Given the description of an element on the screen output the (x, y) to click on. 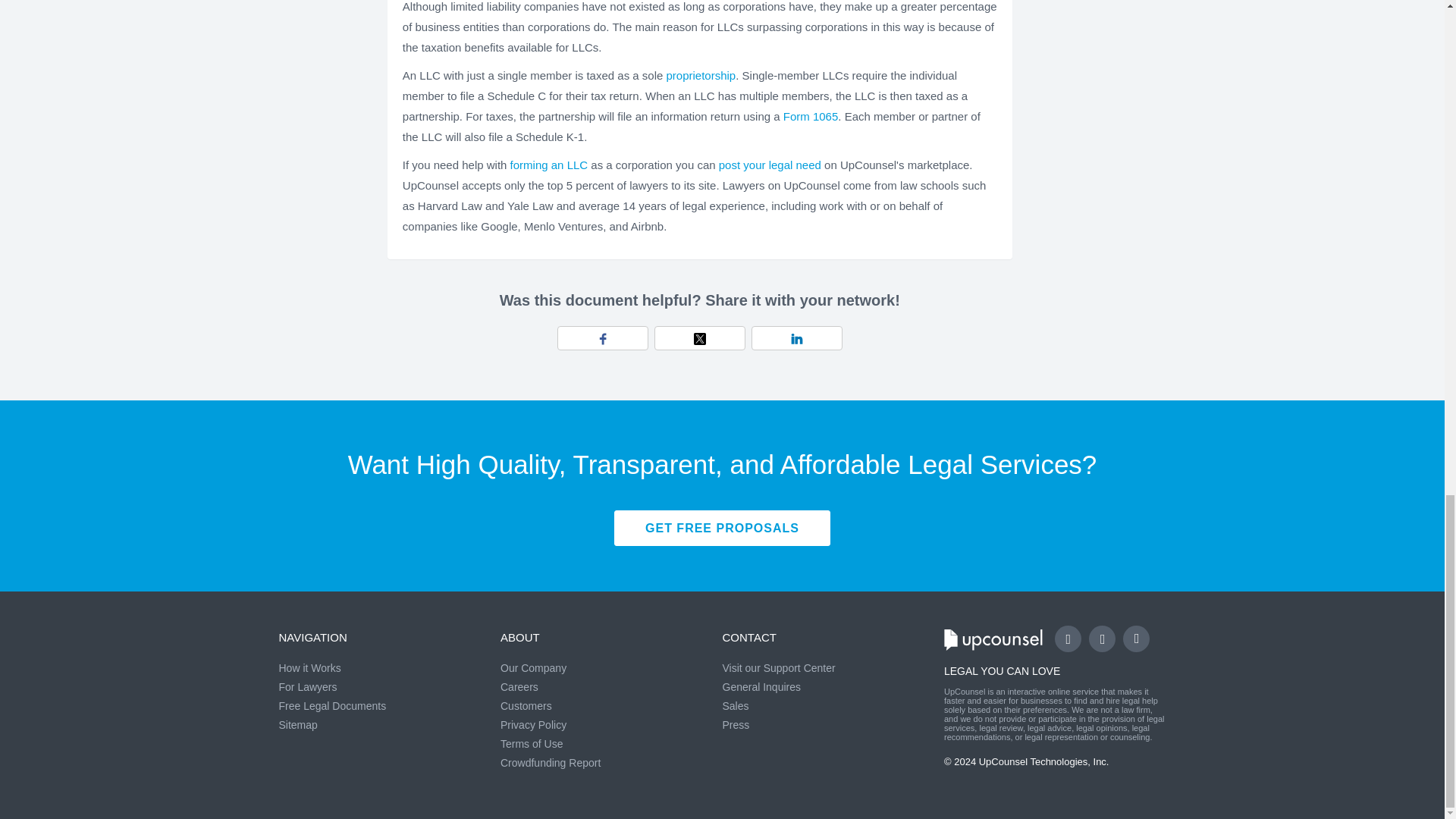
proprietorship (700, 74)
Follow us on Twitter (1102, 638)
Connect with us on LinkedIn (1136, 638)
Like us on Facebook (1067, 638)
